Given the description of an element on the screen output the (x, y) to click on. 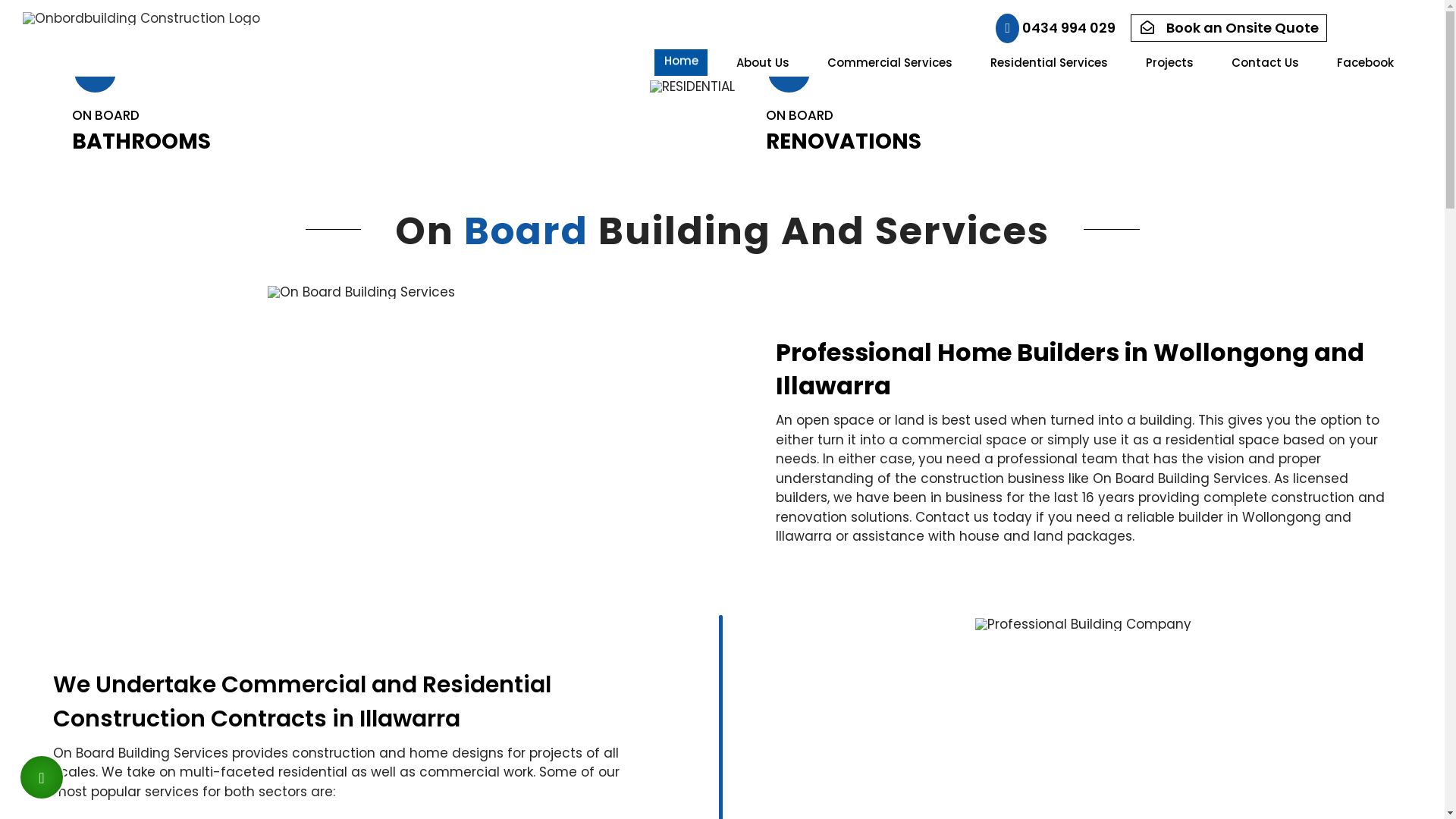
Residential Services Element type: text (1048, 62)
Facebook Element type: text (1364, 62)
Book an Onsite Quote Element type: text (1224, 27)
On Board Decks Element type: hover (786, 169)
On Board Decks Element type: hover (786, 134)
On Board Building Services Element type: hover (361, 291)
0434 994 029 Element type: text (1055, 27)
On Board Bathroom Element type: hover (104, 169)
Home Element type: text (680, 75)
RESIDENTIAL SERVICES Element type: hover (721, 86)
Professional Building Company Element type: hover (1083, 624)
On Board Peragolas Element type: hover (104, 134)
Commercial Services Element type: text (889, 62)
Projects Element type: text (1168, 62)
Contact Us Element type: text (1264, 62)
About Us Element type: text (762, 62)
